Given the description of an element on the screen output the (x, y) to click on. 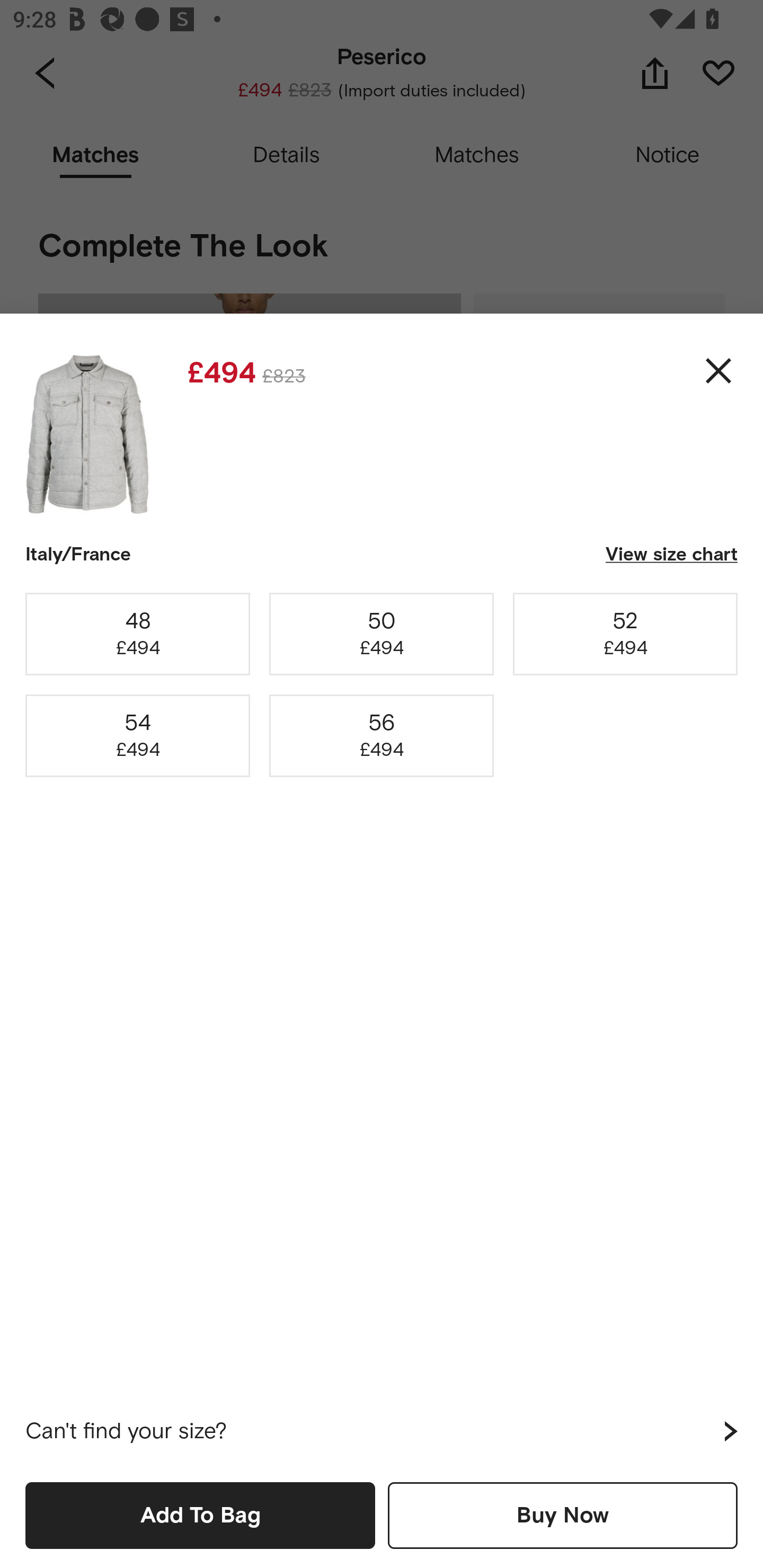
48 £494 (137, 633)
50 £494 (381, 633)
52 £494 (624, 633)
54 £494 (137, 735)
56 £494 (381, 735)
Can't find your size? (381, 1431)
Add To Bag (200, 1515)
Buy Now (562, 1515)
